Given the description of an element on the screen output the (x, y) to click on. 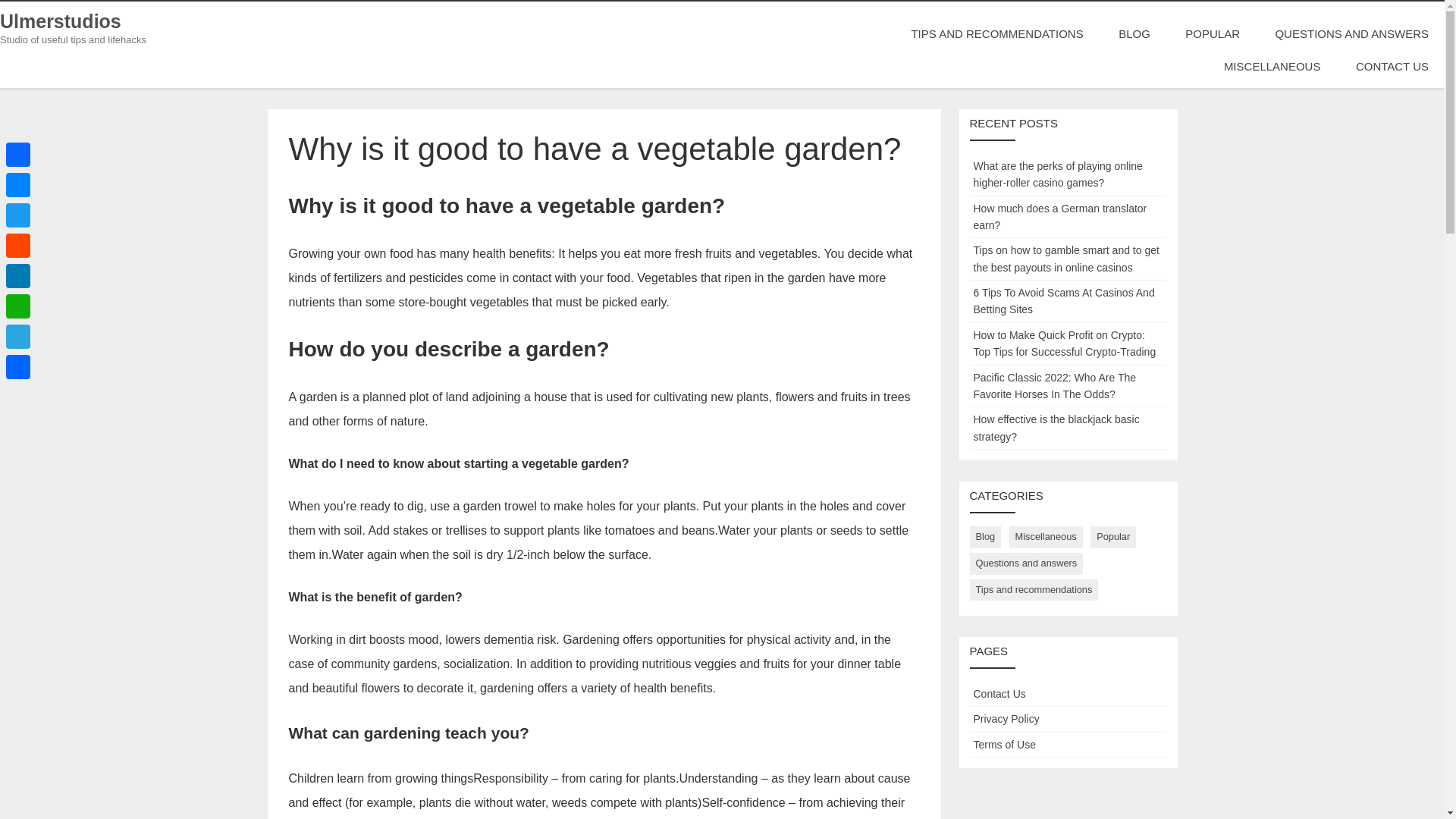
Ulmerstudios (60, 21)
Twitter (17, 214)
Reddit (17, 245)
Tips and recommendations (1033, 590)
Blog (985, 536)
Facebook (17, 154)
WhatsApp (17, 306)
LinkedIn (17, 276)
Contact Us (1000, 693)
Telegram (17, 336)
MISCELLANEOUS (1272, 65)
Questions and answers (1026, 563)
